Given the description of an element on the screen output the (x, y) to click on. 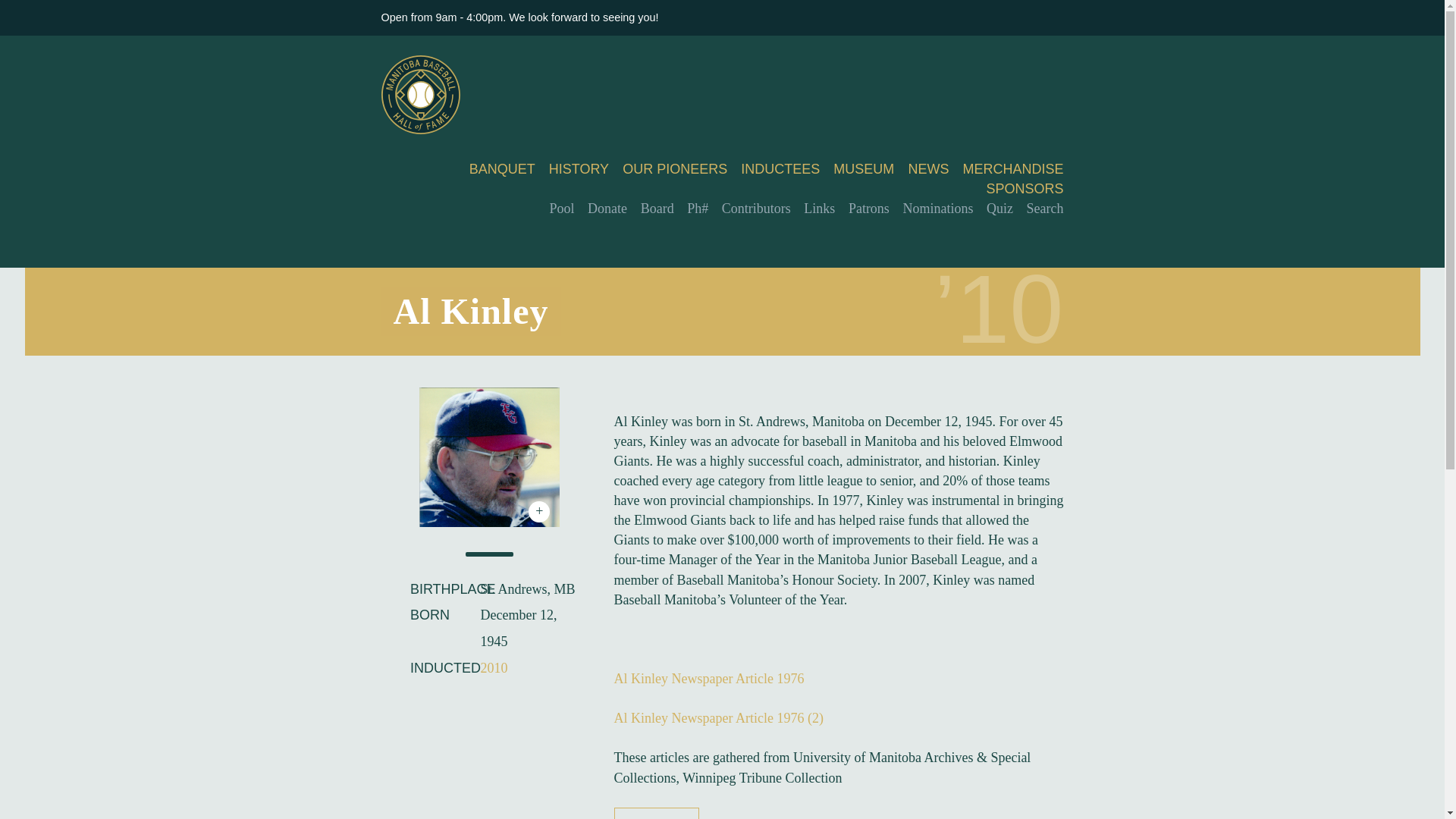
HISTORY (578, 168)
Search (1045, 208)
Builder (656, 817)
2010 (493, 667)
Nominations (937, 208)
MERCHANDISE (1012, 168)
Donate (607, 208)
Board (657, 208)
MUSEUM (862, 168)
BUILDER (656, 817)
Pool (562, 208)
Patrons (868, 208)
SPONSORS (1023, 188)
NEWS (928, 168)
BANQUET (501, 168)
